Given the description of an element on the screen output the (x, y) to click on. 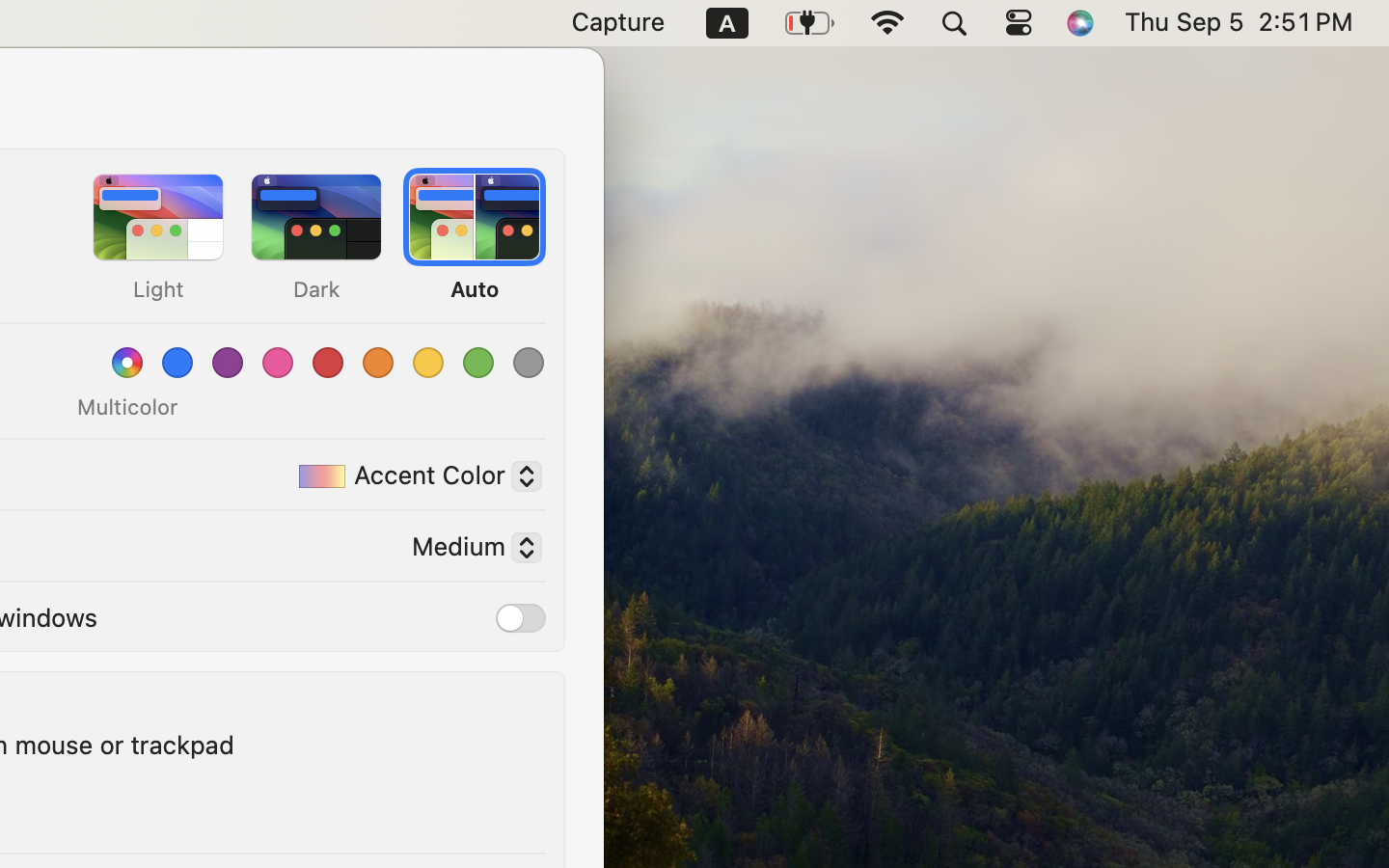
Multicolor Element type: AXStaticText (127, 406)
Medium Element type: AXPopUpButton (468, 550)
Accent Color Element type: AXPopUpButton (412, 479)
